Given the description of an element on the screen output the (x, y) to click on. 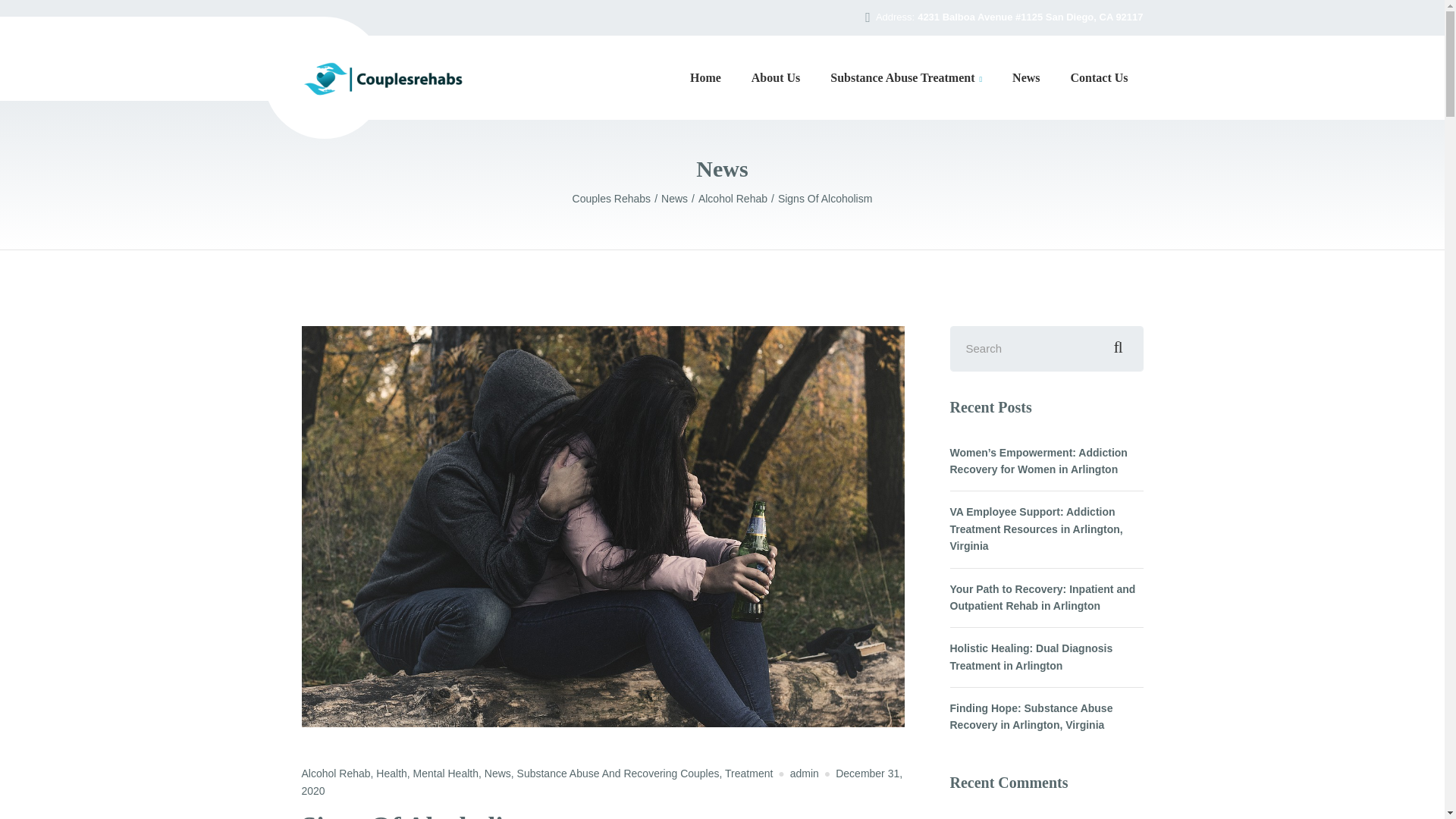
Mental Health (446, 773)
Alcohol Rehab (336, 773)
Go to the Alcohol Rehab Category archives. (737, 198)
Signs Of Alcoholism (824, 198)
Go to Signs Of Alcoholism. (824, 198)
News (497, 773)
About Us (775, 78)
Alcohol Rehab (737, 198)
Holistic Healing: Dual Diagnosis Treatment in Arlington (1045, 657)
Substance Abuse Treatment (906, 78)
December 31, 2020 (601, 781)
Health (390, 773)
Go to News. (679, 198)
News (679, 198)
Substance Abuse And Recovering Couples (617, 773)
